Given the description of an element on the screen output the (x, y) to click on. 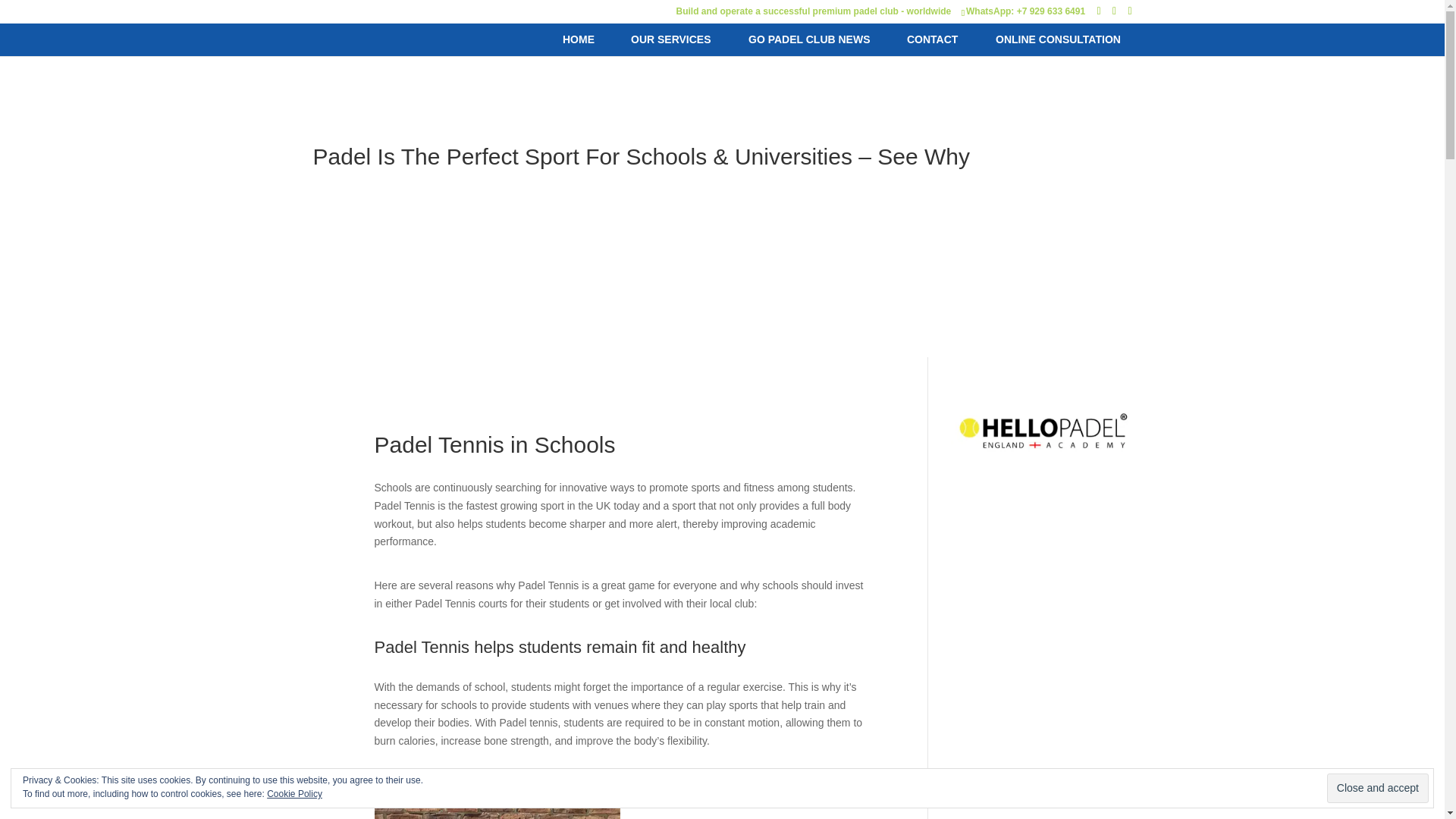
Online Sports Marketing (1007, 584)
Sports Marketing (990, 794)
Hello Padel (978, 538)
ONLINE CONSULTATION (1058, 39)
Padel For Parks (988, 631)
OUR SERVICES (671, 39)
Padel For Sport Centres (1007, 701)
Padel For Private Homes (1009, 654)
Padel For Schools (993, 677)
Sectors (968, 770)
